Given the description of an element on the screen output the (x, y) to click on. 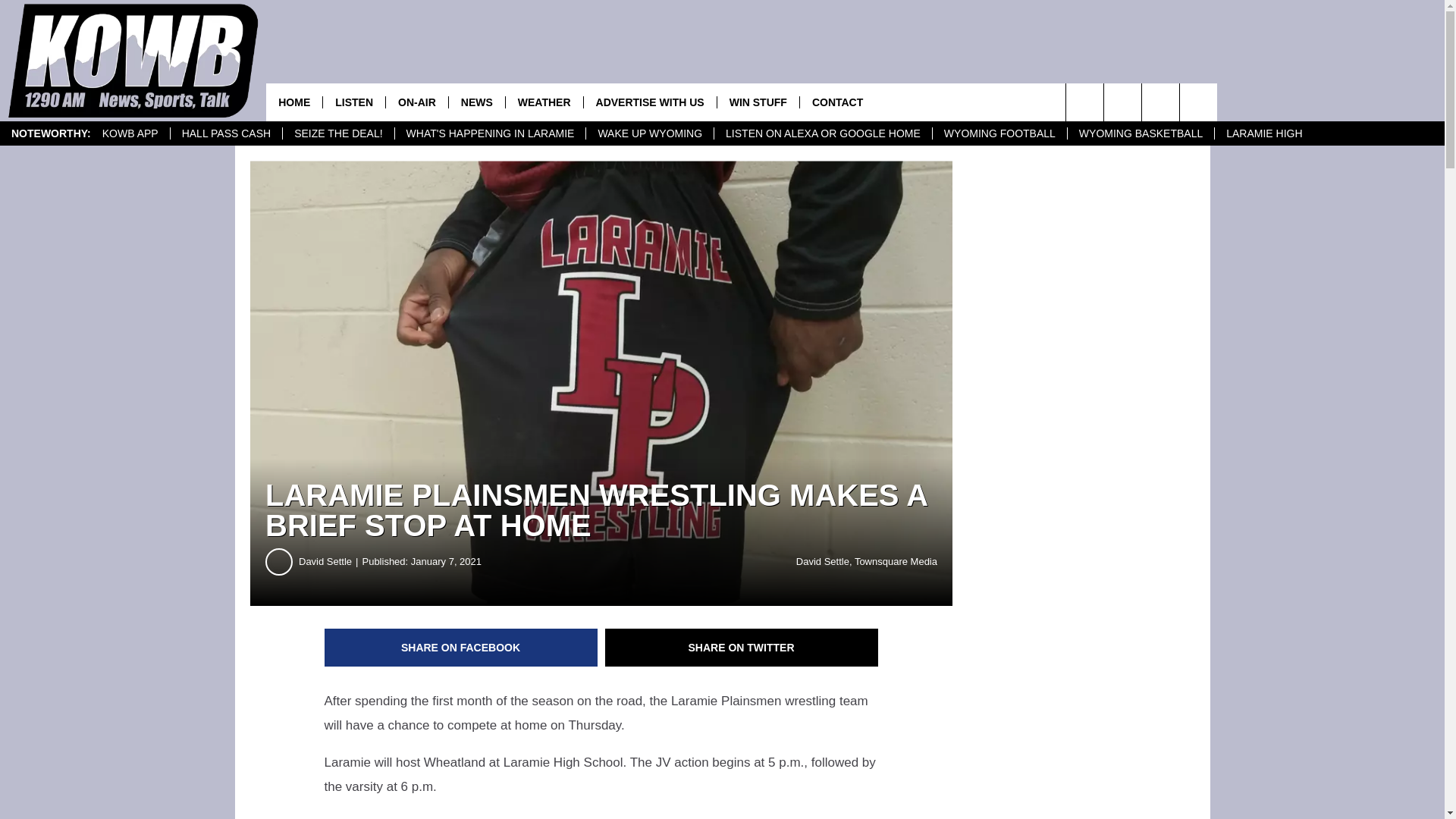
LISTEN (353, 102)
WHAT'S HAPPENING IN LARAMIE (490, 133)
HALL PASS CASH (226, 133)
SEIZE THE DEAL! (337, 133)
Share on Twitter (741, 647)
WYOMING BASKETBALL (1140, 133)
HOME (293, 102)
NEWS (476, 102)
ON-AIR (416, 102)
WEATHER (544, 102)
WAKE UP WYOMING (649, 133)
LISTEN ON ALEXA OR GOOGLE HOME (822, 133)
WYOMING FOOTBALL (999, 133)
KOWB APP (130, 133)
Share on Facebook (460, 647)
